Given the description of an element on the screen output the (x, y) to click on. 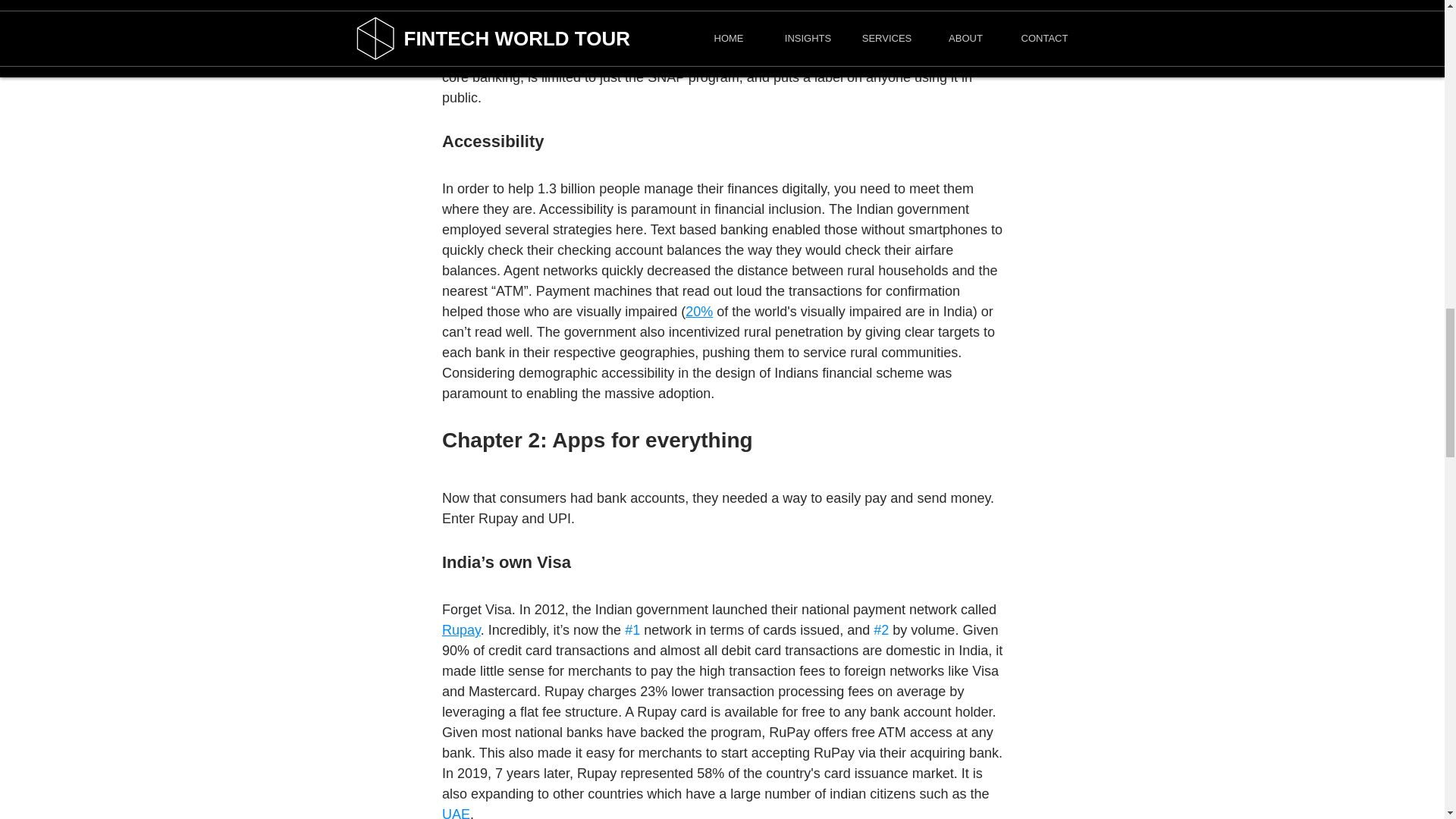
UAE (454, 812)
Rupay (460, 630)
EBT (628, 36)
